Given the description of an element on the screen output the (x, y) to click on. 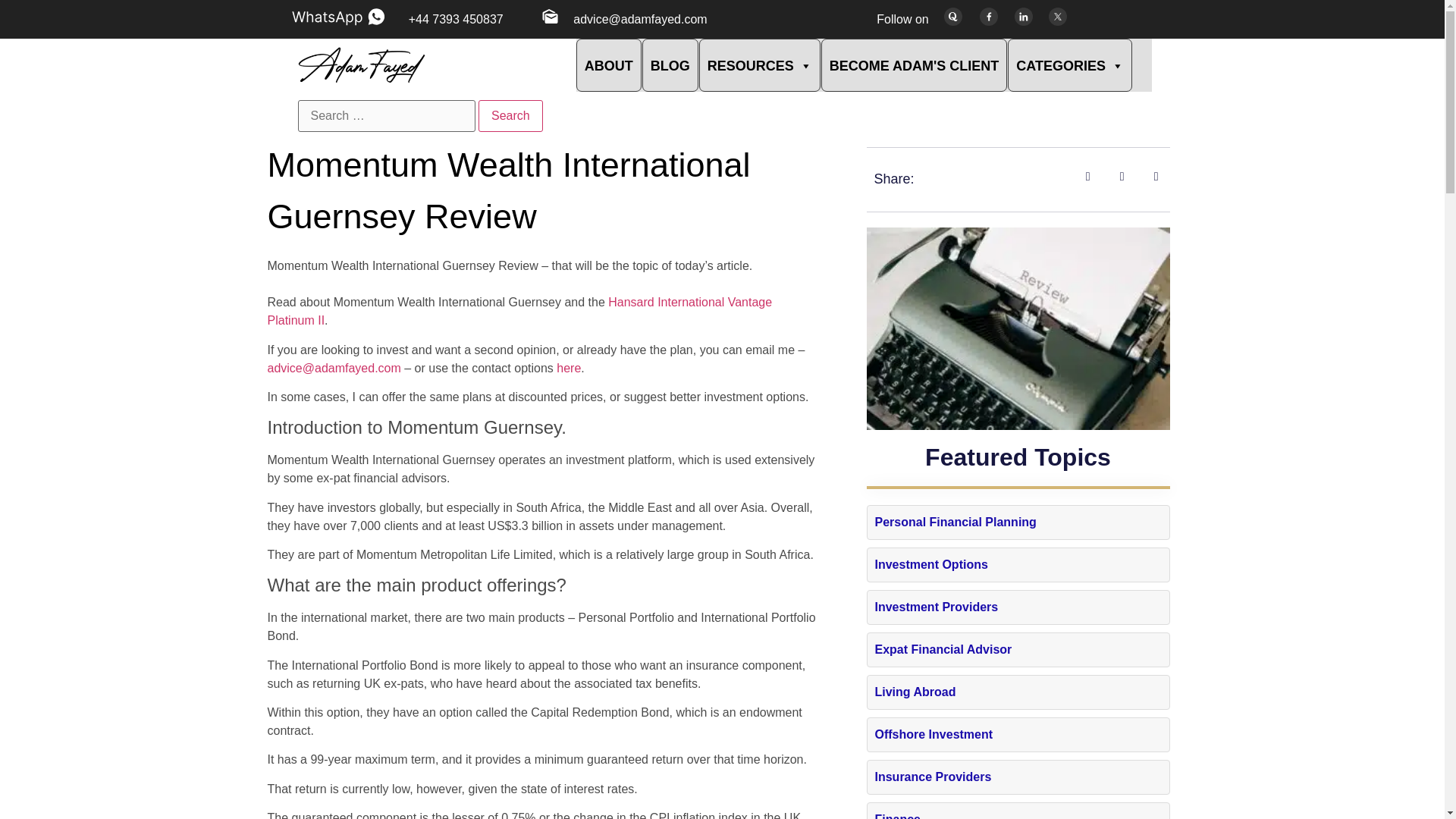
Search (511, 115)
here (568, 367)
Hansard International Vantage Platinum II (518, 310)
ABOUT (609, 64)
RESOURCES (759, 64)
Search (511, 115)
CATEGORIES (1069, 64)
BLOG (670, 64)
Search (511, 115)
BECOME ADAM'S CLIENT (914, 64)
